Given the description of an element on the screen output the (x, y) to click on. 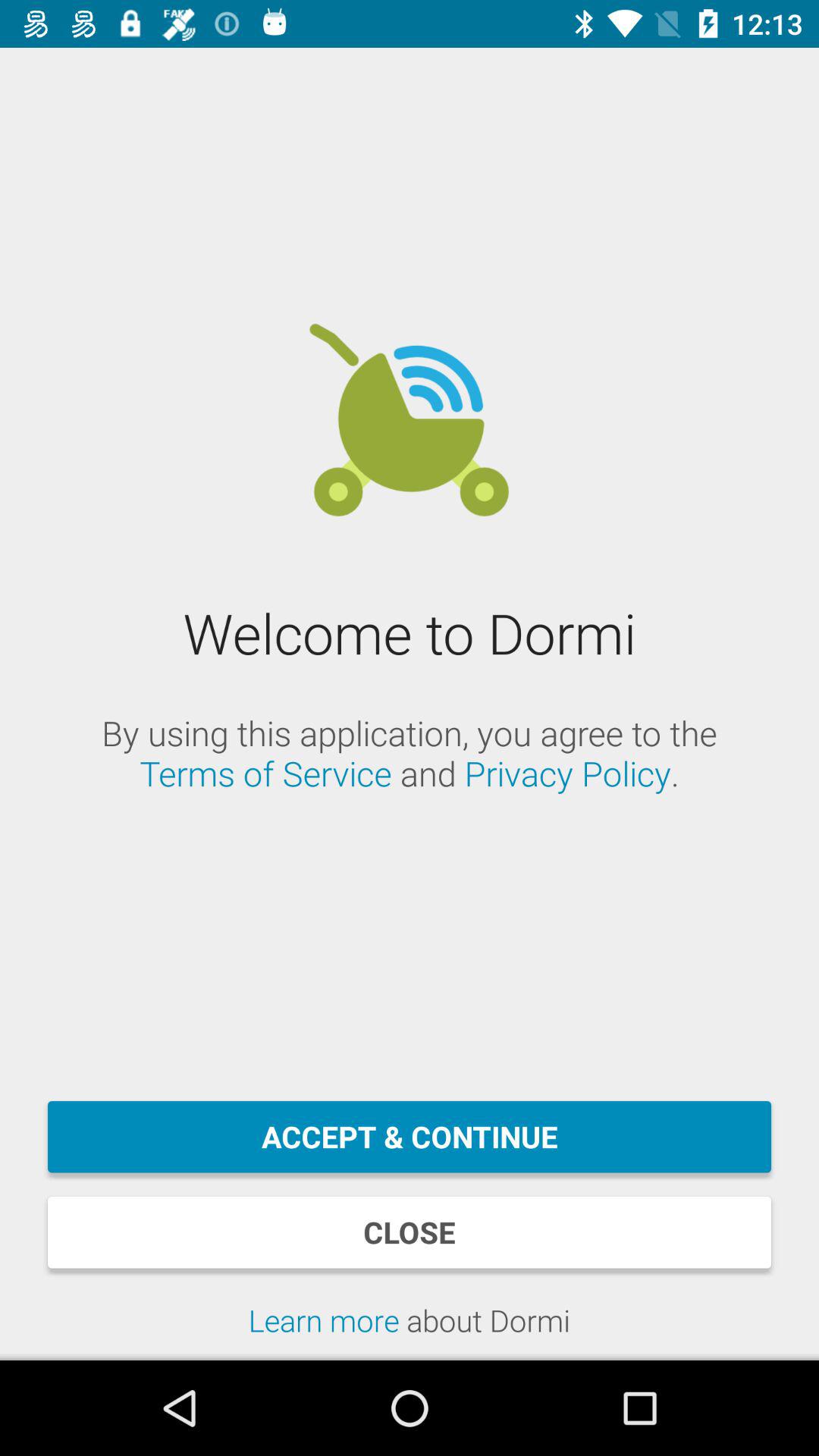
open the item below by using this icon (409, 1136)
